Given the description of an element on the screen output the (x, y) to click on. 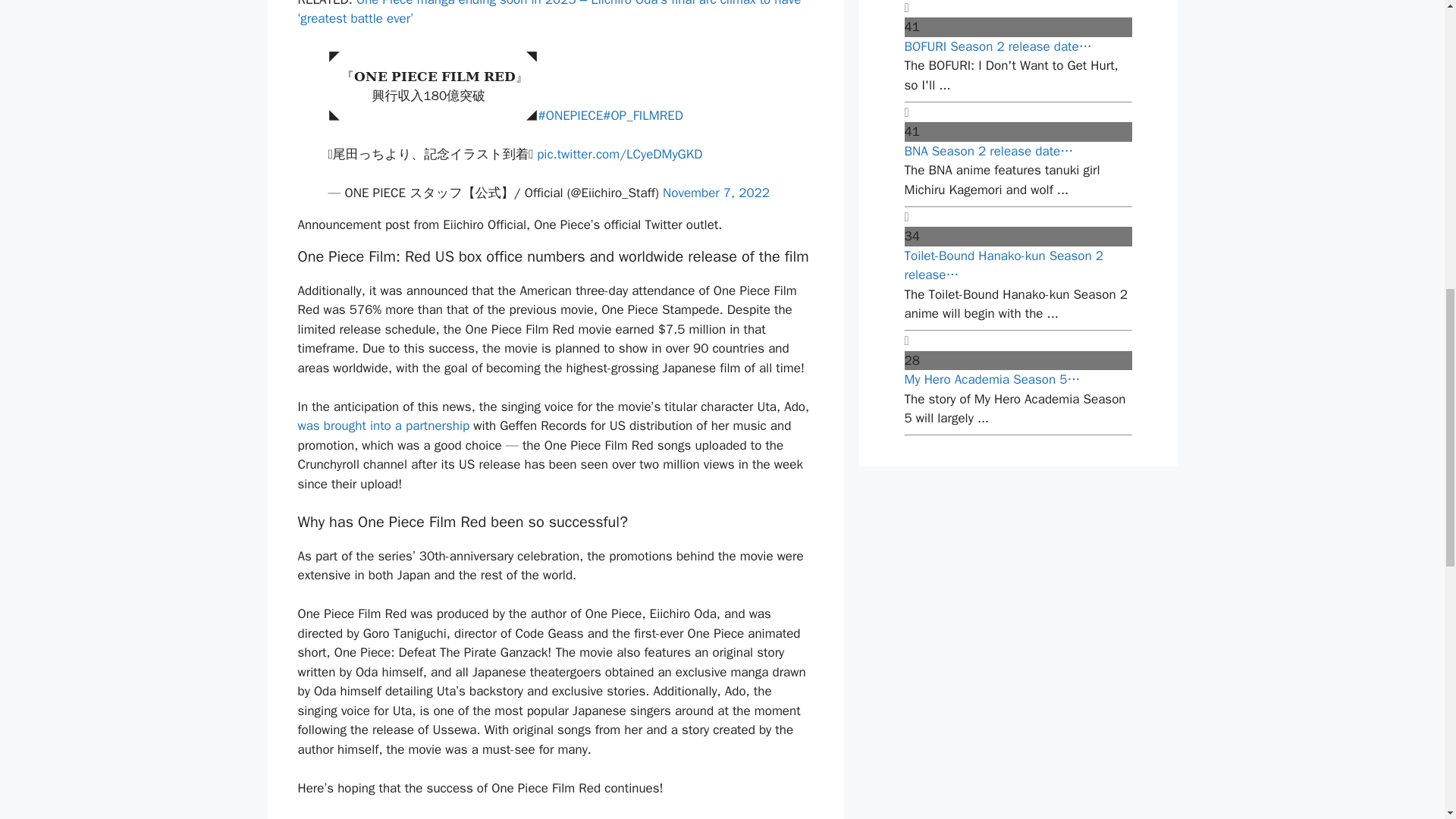
One Piece (407, 818)
November 7, 2022 (716, 192)
was brought into a partnership (382, 425)
